Given the description of an element on the screen output the (x, y) to click on. 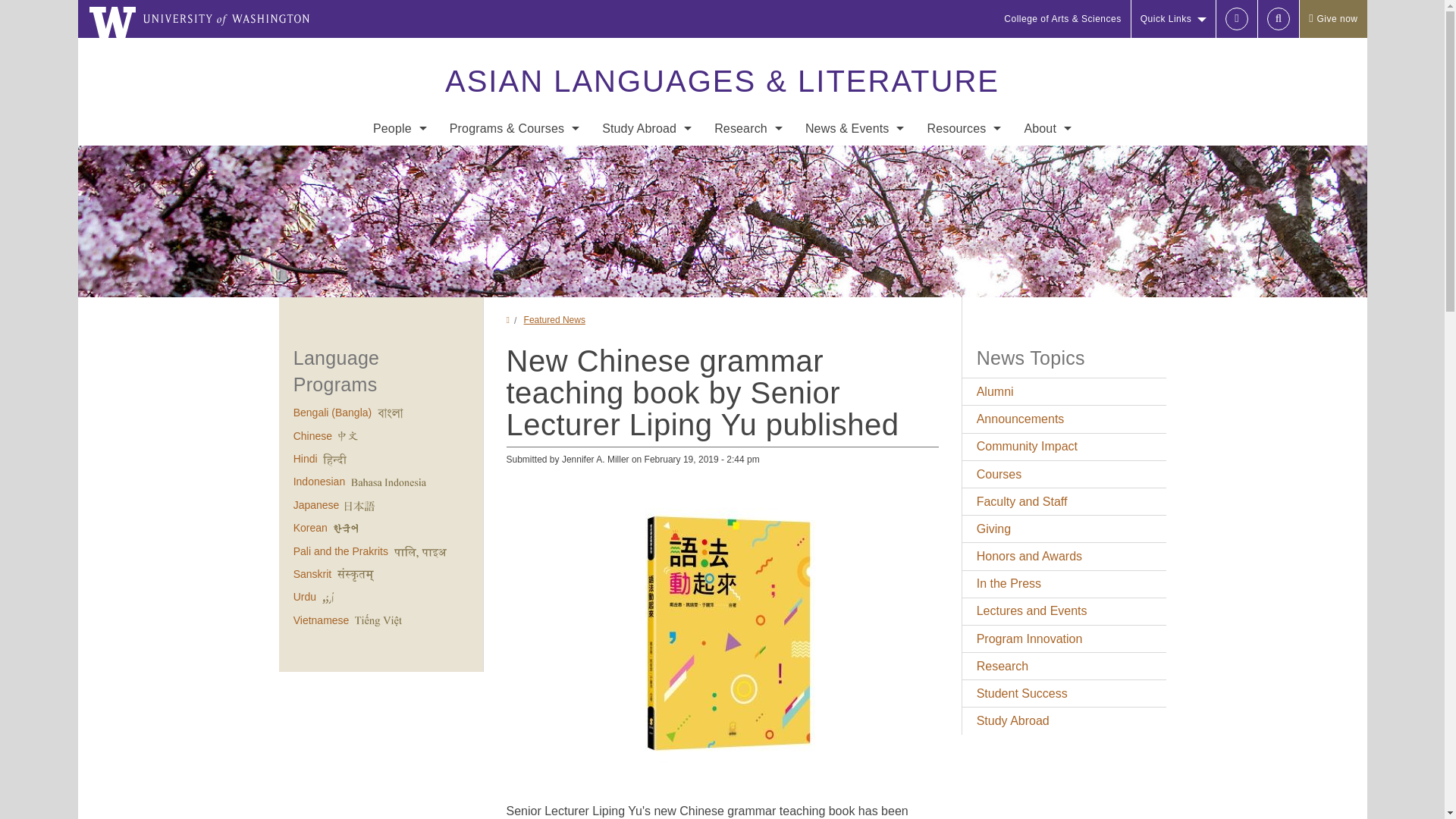
 Give now (1332, 18)
Faculty (399, 160)
Department Service Assignments (399, 281)
People (399, 128)
UWNetID Login (1236, 18)
Quick Links (1173, 18)
Teaching Assistants (399, 221)
Staff (399, 191)
Undergraduate (514, 160)
Alumni (399, 312)
Graduate Students (399, 251)
